Given the description of an element on the screen output the (x, y) to click on. 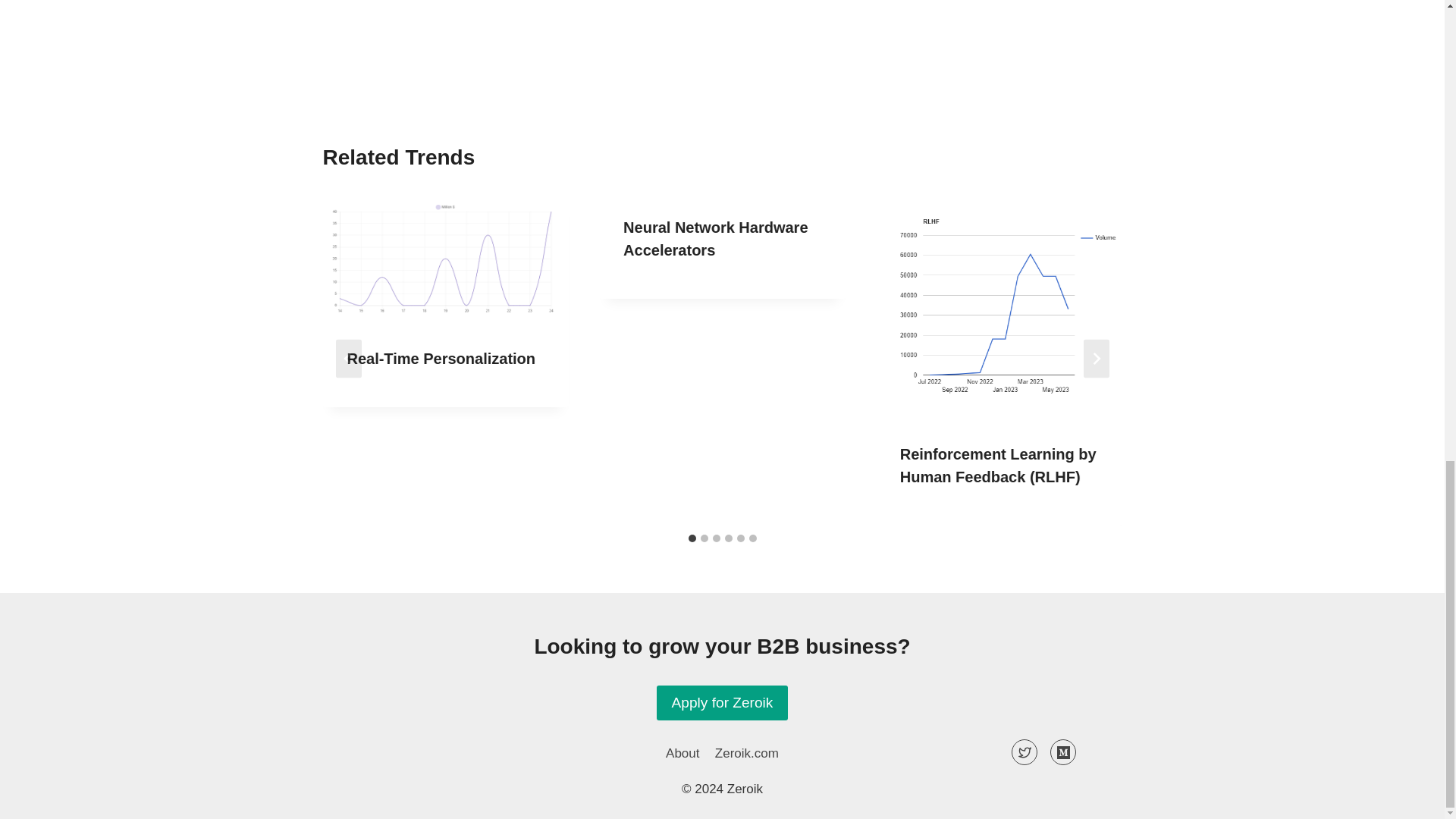
trends-widget-1 (722, 29)
